Given the description of an element on the screen output the (x, y) to click on. 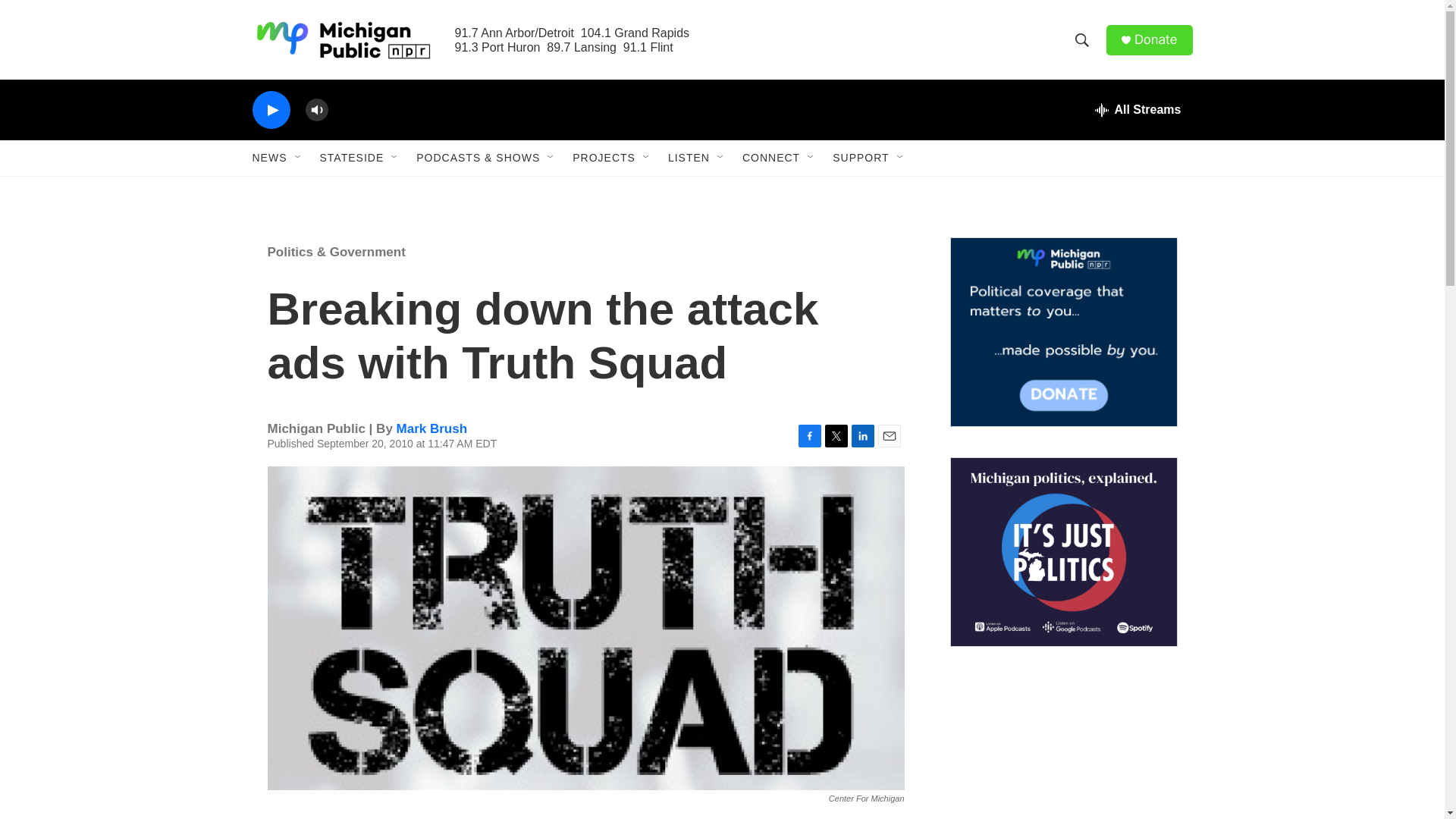
3rd party ad content (1062, 748)
